Given the description of an element on the screen output the (x, y) to click on. 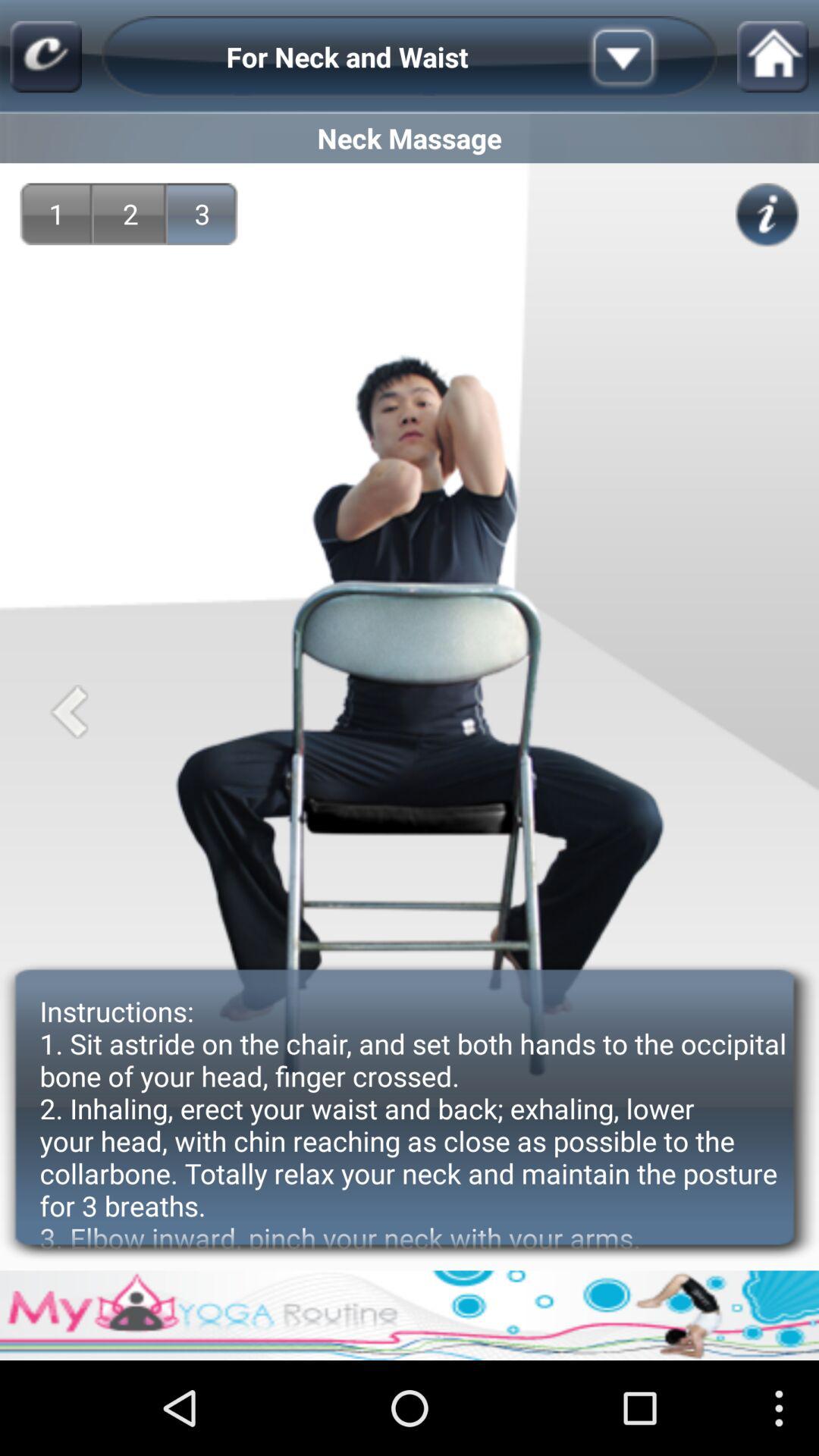
go to app home (772, 56)
